Given the description of an element on the screen output the (x, y) to click on. 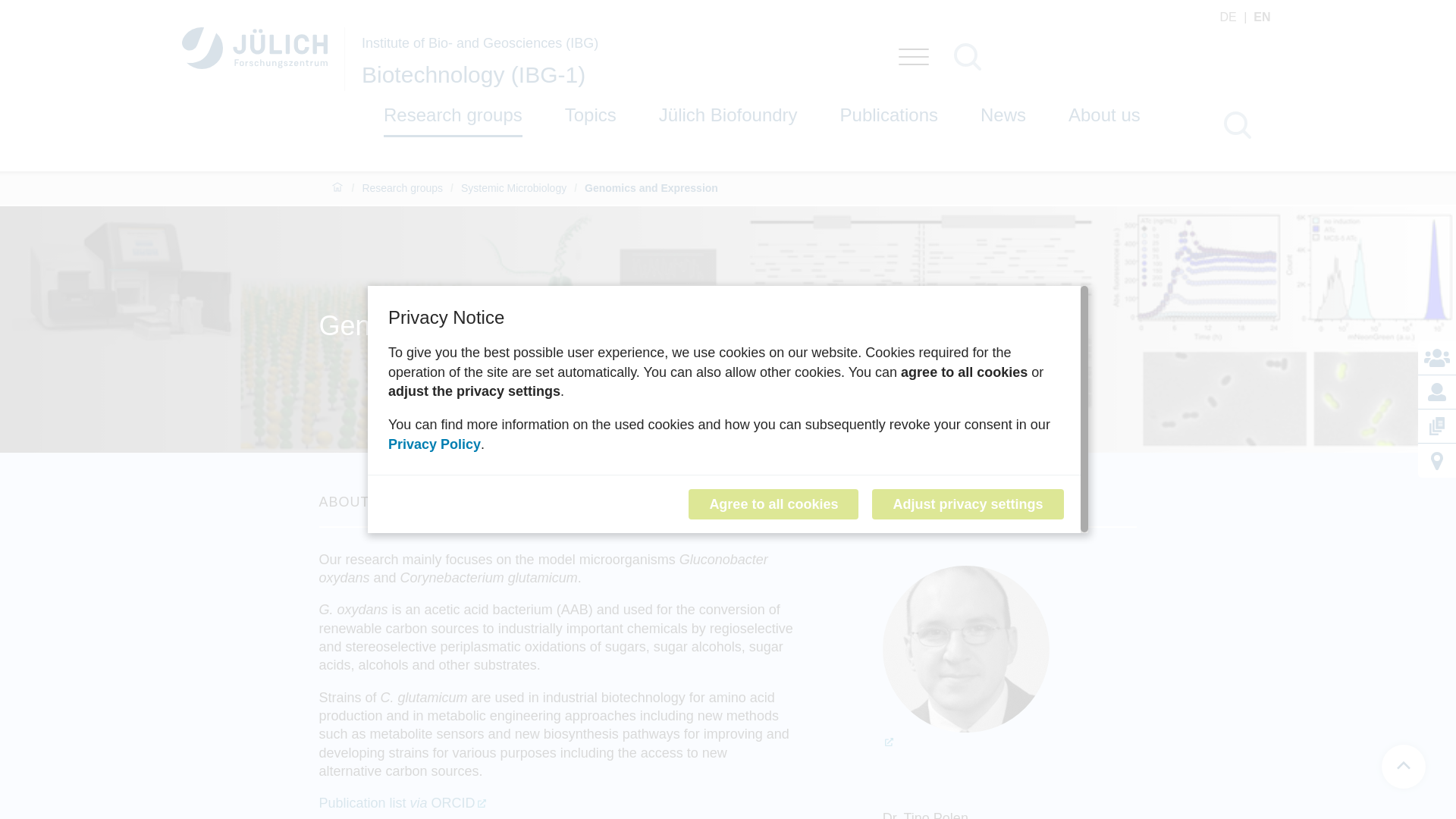
DE  (1235, 16)
Contacts (1437, 357)
Tino Polen (1009, 657)
Staff (1437, 391)
Research groups (452, 112)
Site (263, 58)
Search (1113, 58)
Deutsch (1235, 16)
Directions (1437, 460)
Plone Site (254, 48)
Publications of IBG-1 (1437, 426)
Topics (590, 116)
Home (336, 187)
Open menu (913, 59)
